Given the description of an element on the screen output the (x, y) to click on. 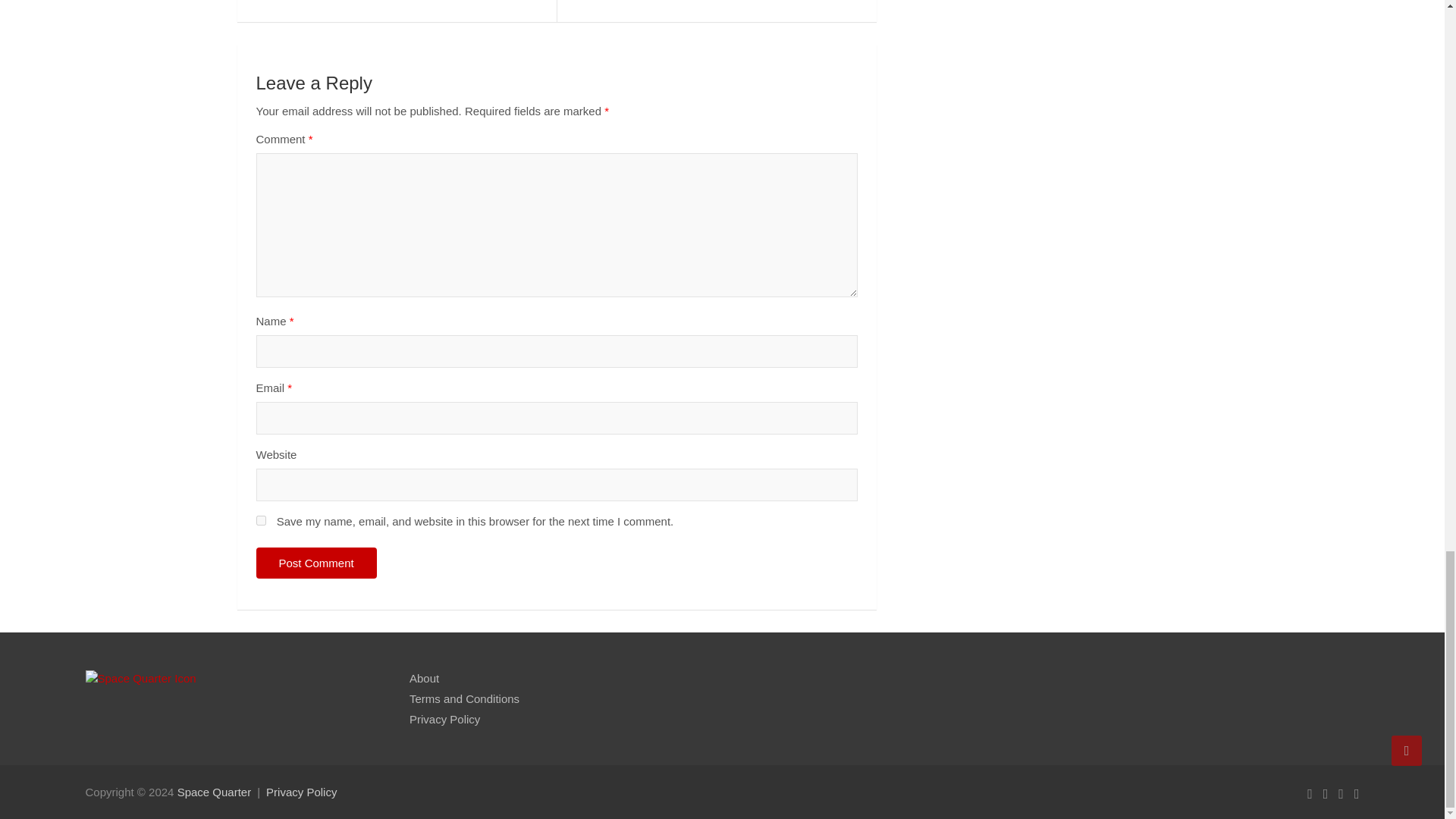
The Biggest Space Stories of 2023 (395, 2)
Post Comment (316, 562)
Space Quarter (214, 791)
yes (261, 520)
Post Comment (316, 562)
